Given the description of an element on the screen output the (x, y) to click on. 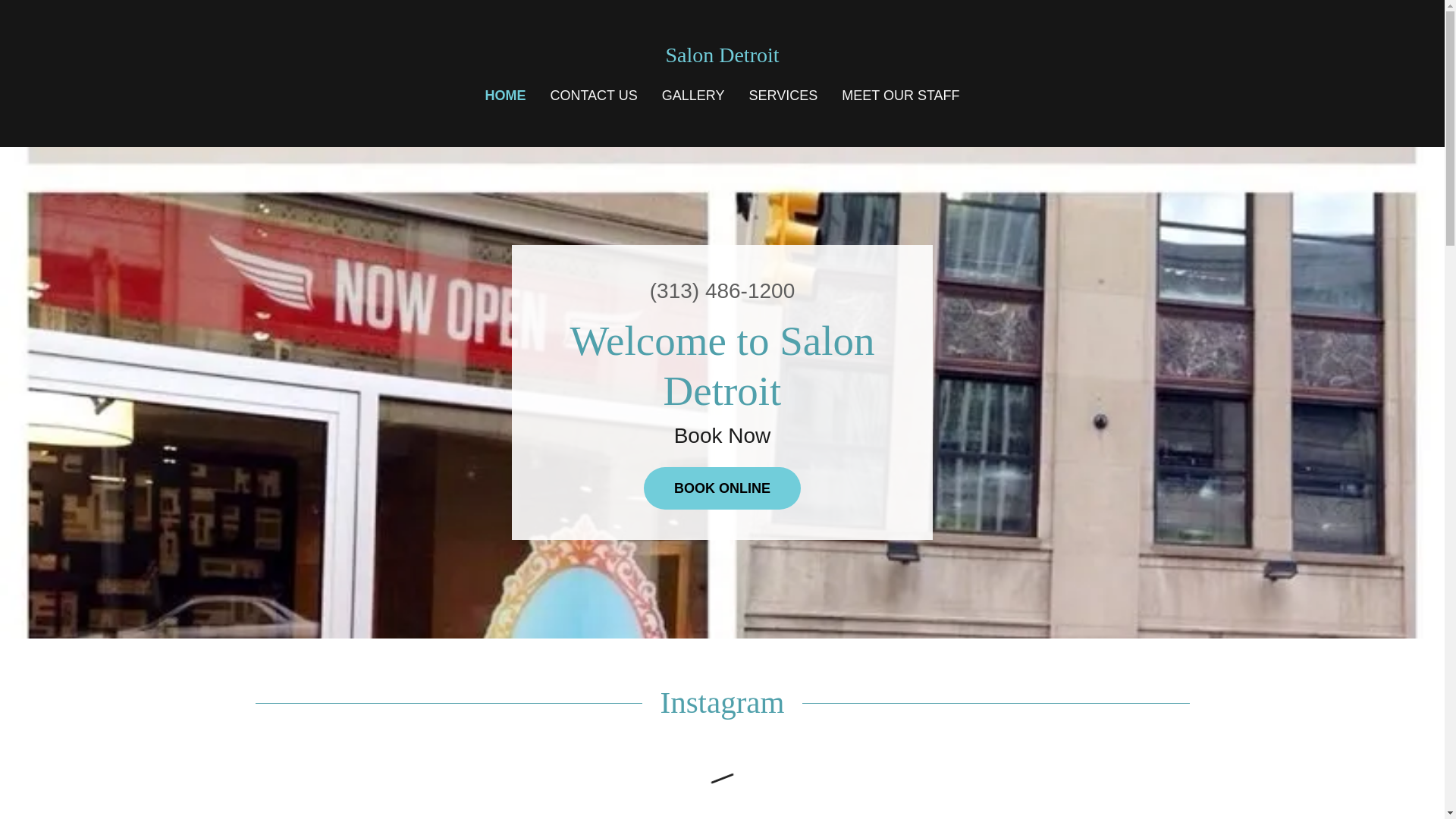
Salon Detroit (721, 56)
SERVICES (783, 94)
GALLERY (693, 94)
CONTACT US (593, 94)
Salon Detroit (721, 56)
BOOK ONLINE (721, 487)
MEET OUR STAFF (900, 94)
HOME (504, 95)
